Given the description of an element on the screen output the (x, y) to click on. 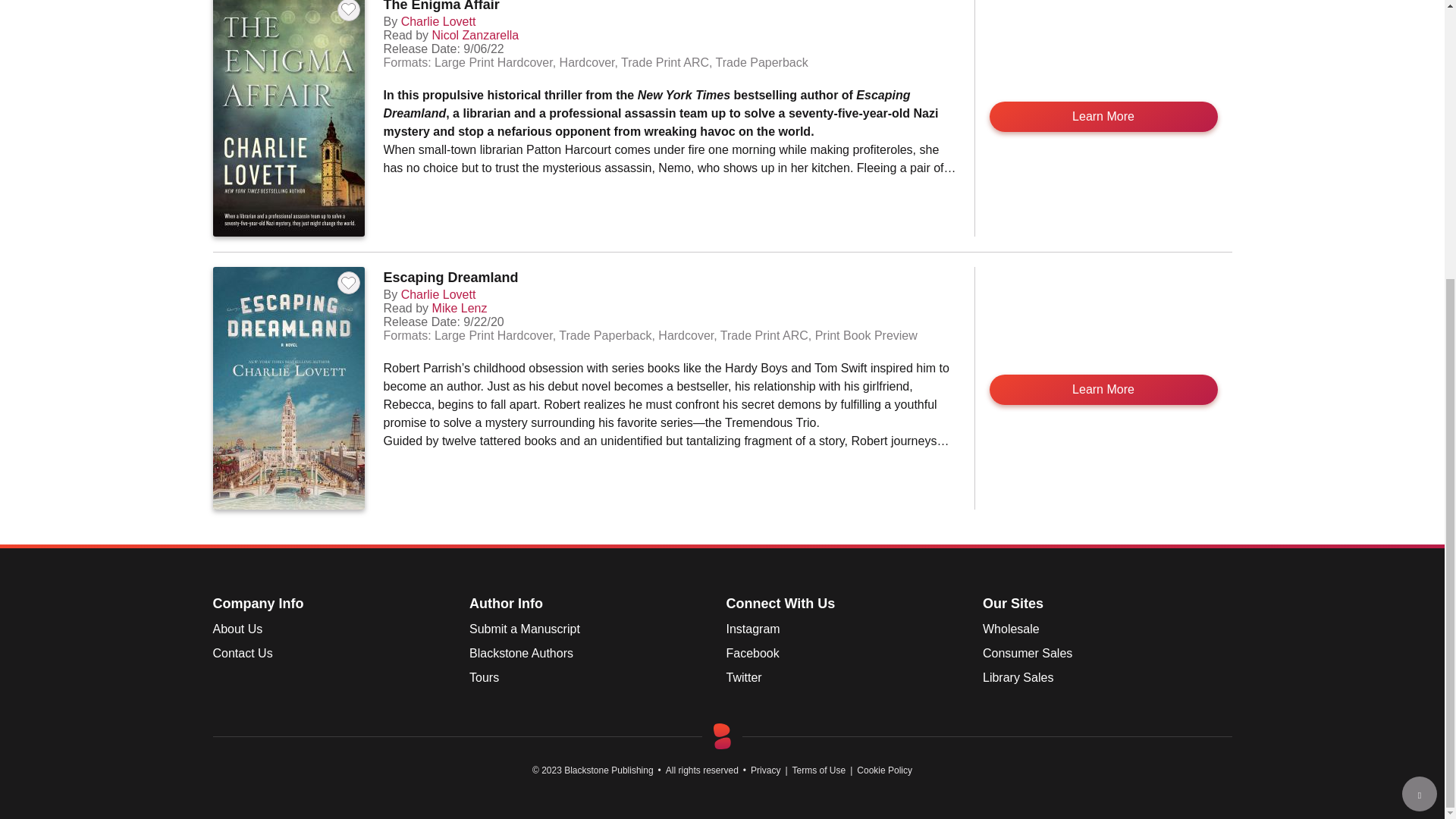
Escaping Dreamland (451, 277)
Nicol Zanzarella (475, 34)
Learn More (1102, 116)
Charlie Lovett (438, 21)
add this to your wishlist (347, 10)
Learn More (1102, 389)
The Enigma Affair (441, 6)
The Enigma Affair (441, 6)
Mike Lenz (459, 308)
Learn More (1102, 116)
